Given the description of an element on the screen output the (x, y) to click on. 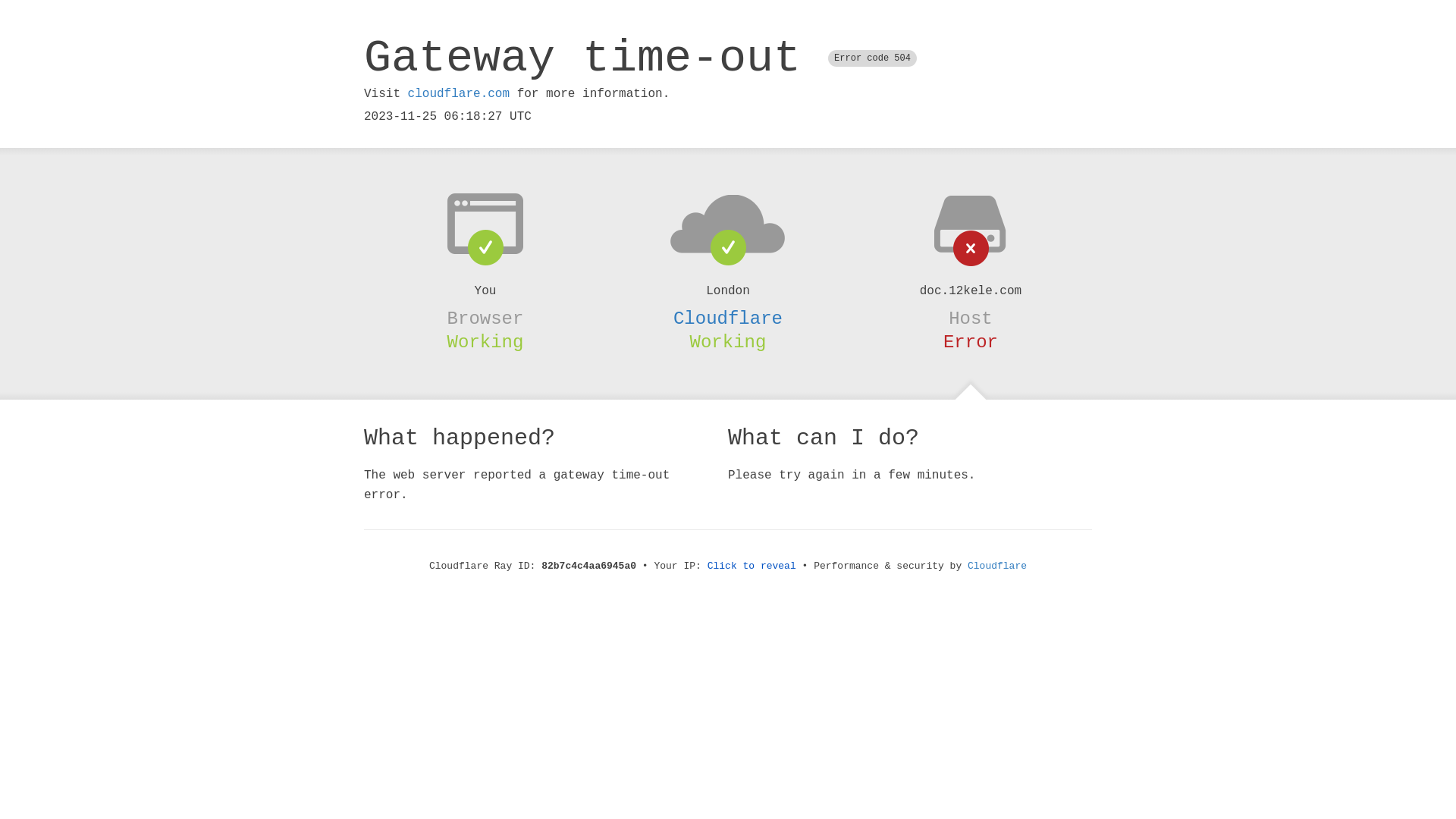
cloudflare.com Element type: text (458, 93)
Cloudflare Element type: text (727, 318)
Cloudflare Element type: text (996, 565)
Click to reveal Element type: text (751, 565)
